Given the description of an element on the screen output the (x, y) to click on. 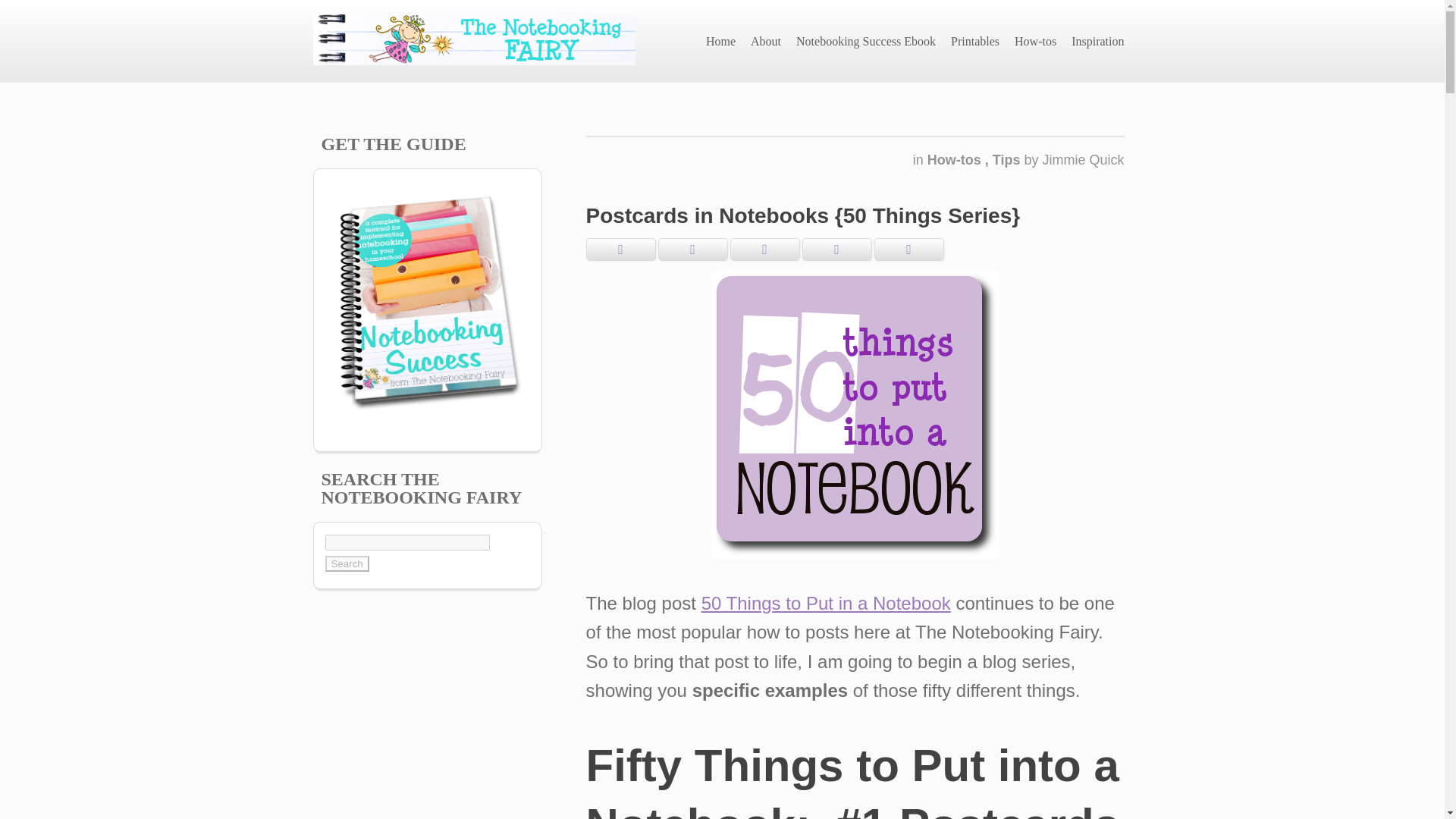
Jimmie Quick (1083, 159)
Printables (975, 41)
Home (720, 41)
Search (346, 563)
Notebooking Success Ebook (866, 41)
How-tos (956, 159)
Search (346, 563)
How-tos (1035, 41)
50 Things to Put in a Notebook (825, 602)
Inspiration (1097, 41)
50 Things to Put Into a Notebook (854, 414)
Fifty Things to Put in a Notebook (825, 602)
About (765, 41)
Tips (1008, 159)
